Given the description of an element on the screen output the (x, y) to click on. 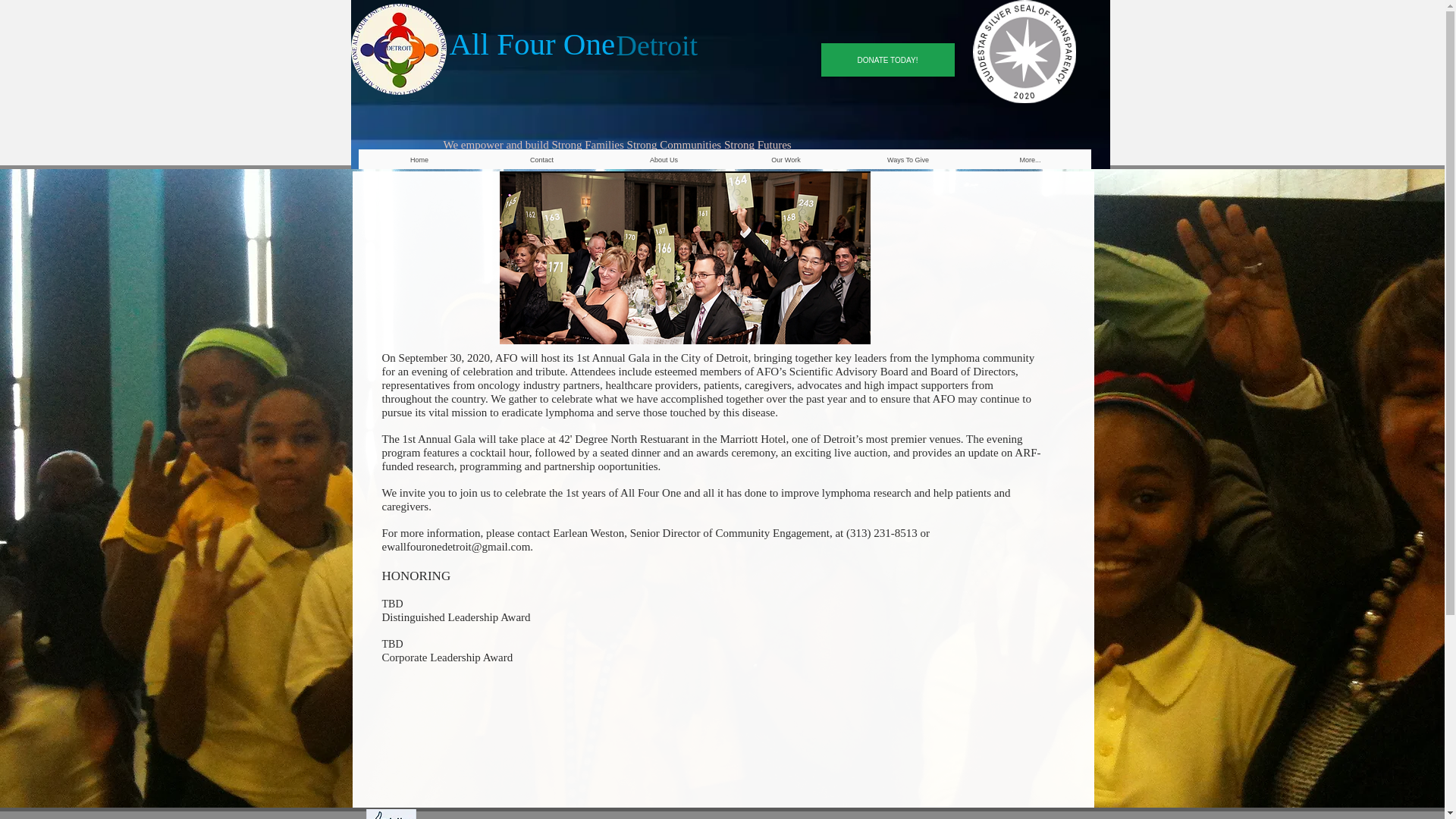
DONATE TODAY! (887, 59)
Contact (541, 159)
fb like buton.jpg (389, 814)
Home (419, 159)
Ways To Give (906, 159)
